Given the description of an element on the screen output the (x, y) to click on. 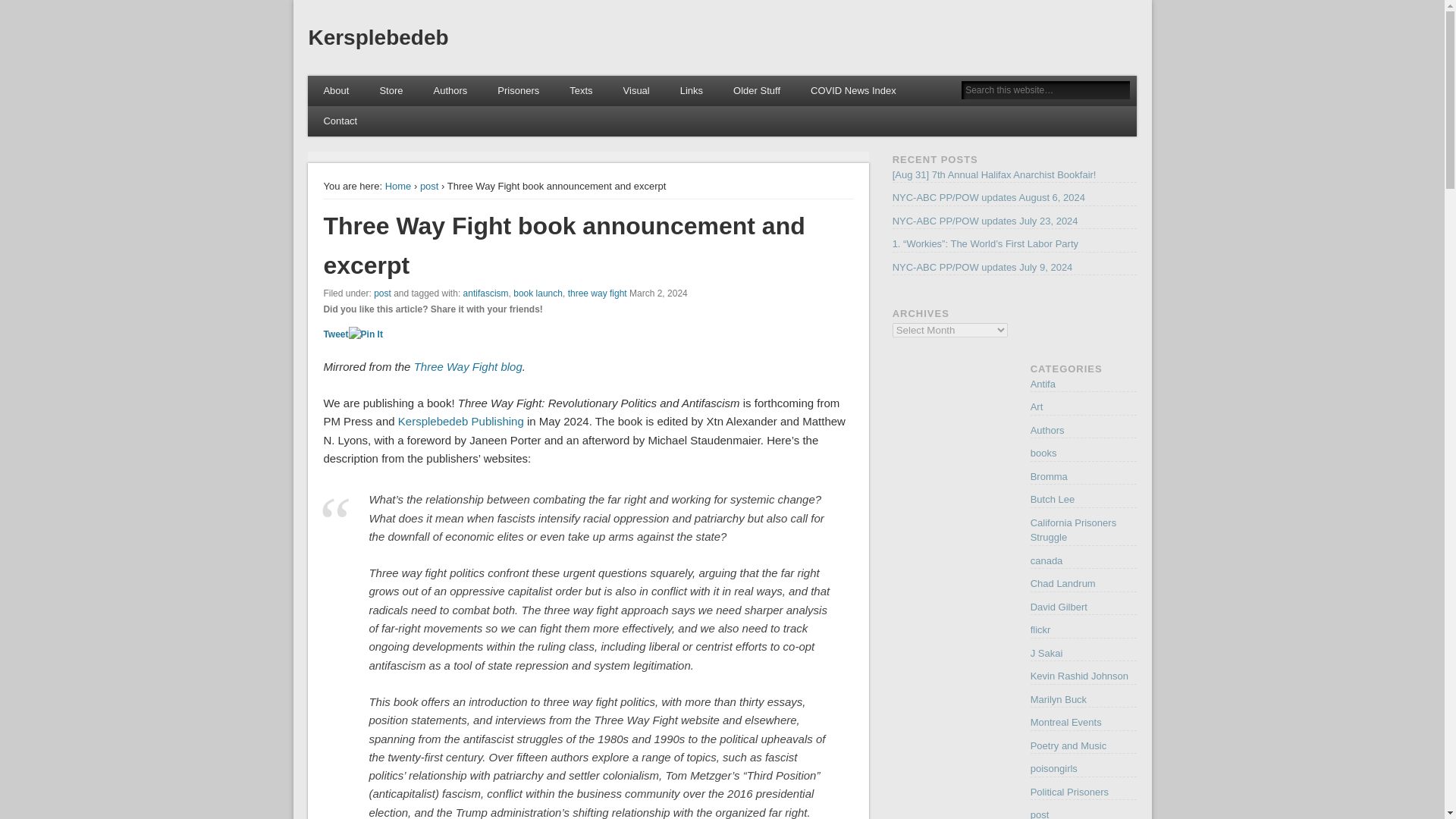
Texts (580, 91)
Authors (449, 91)
Home (398, 185)
post (429, 185)
Contact (339, 121)
COVID News Index (852, 91)
Store (390, 91)
Prisoners (517, 91)
Links (691, 91)
Older Stuff (755, 91)
